Given the description of an element on the screen output the (x, y) to click on. 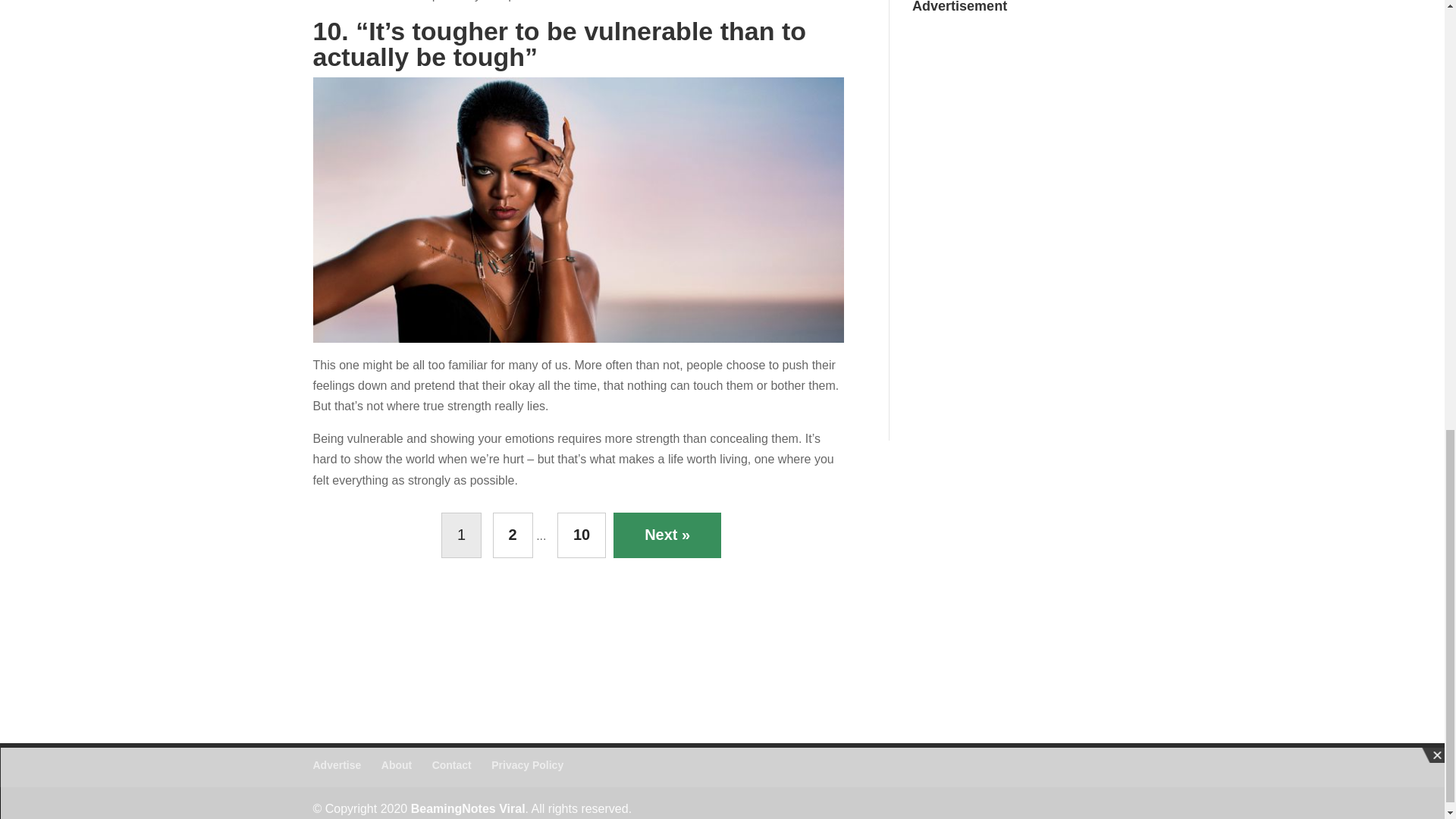
10 (581, 534)
Contact (451, 765)
2 (512, 534)
Advertise (337, 765)
About (396, 765)
